Given the description of an element on the screen output the (x, y) to click on. 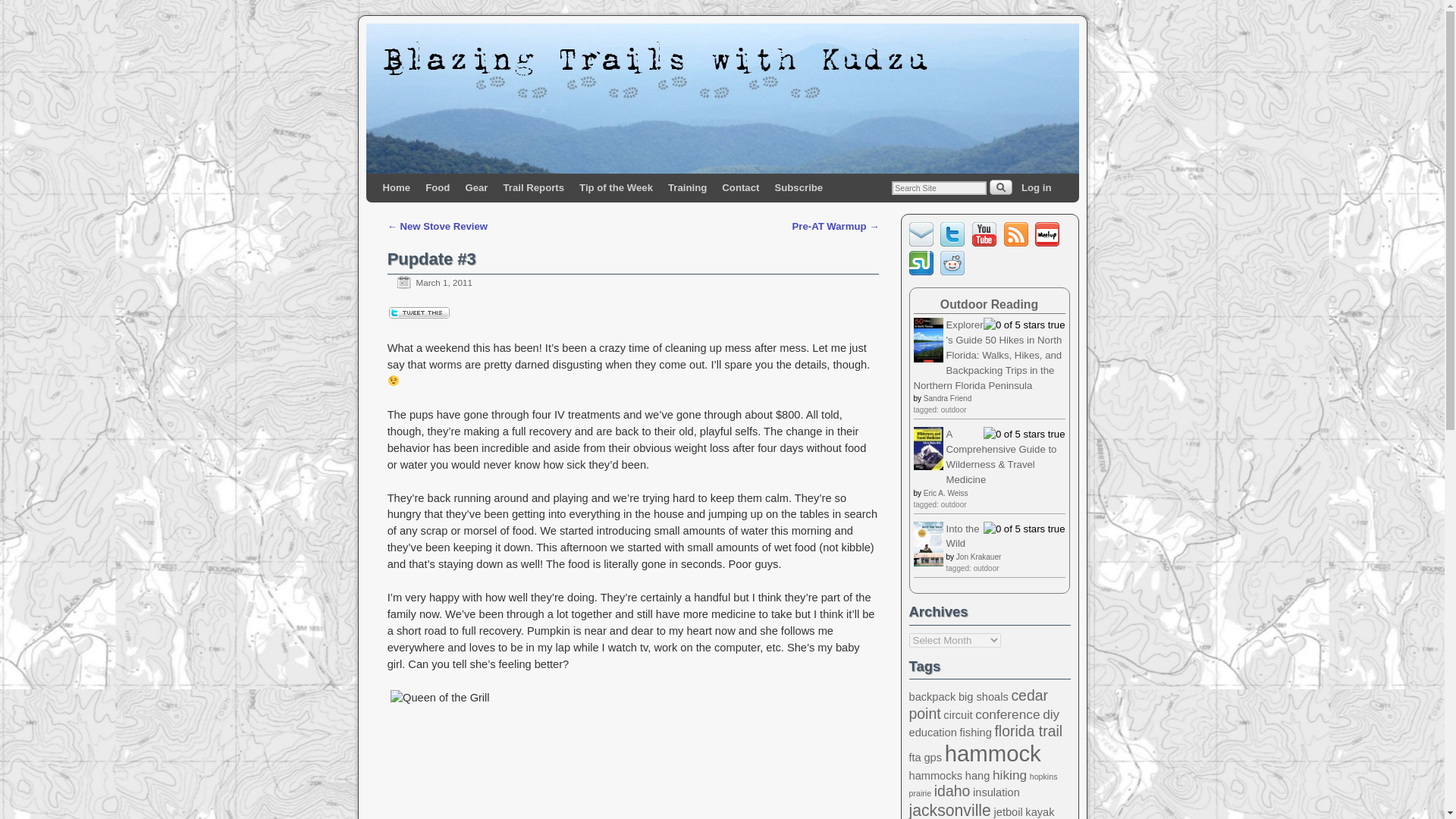
YouTube (986, 242)
Email Kudzu (922, 242)
Skip to secondary content (451, 187)
Food (437, 187)
Subscribe with Feedburner (1018, 242)
Skip to primary content (444, 187)
YouTube (983, 233)
Email Kudzu (920, 233)
Home (395, 187)
Twitter (954, 242)
Twitter (951, 233)
10:31 am (429, 282)
Queen of the Grill (633, 754)
Gear (476, 187)
Post to Twitter (418, 314)
